Given the description of an element on the screen output the (x, y) to click on. 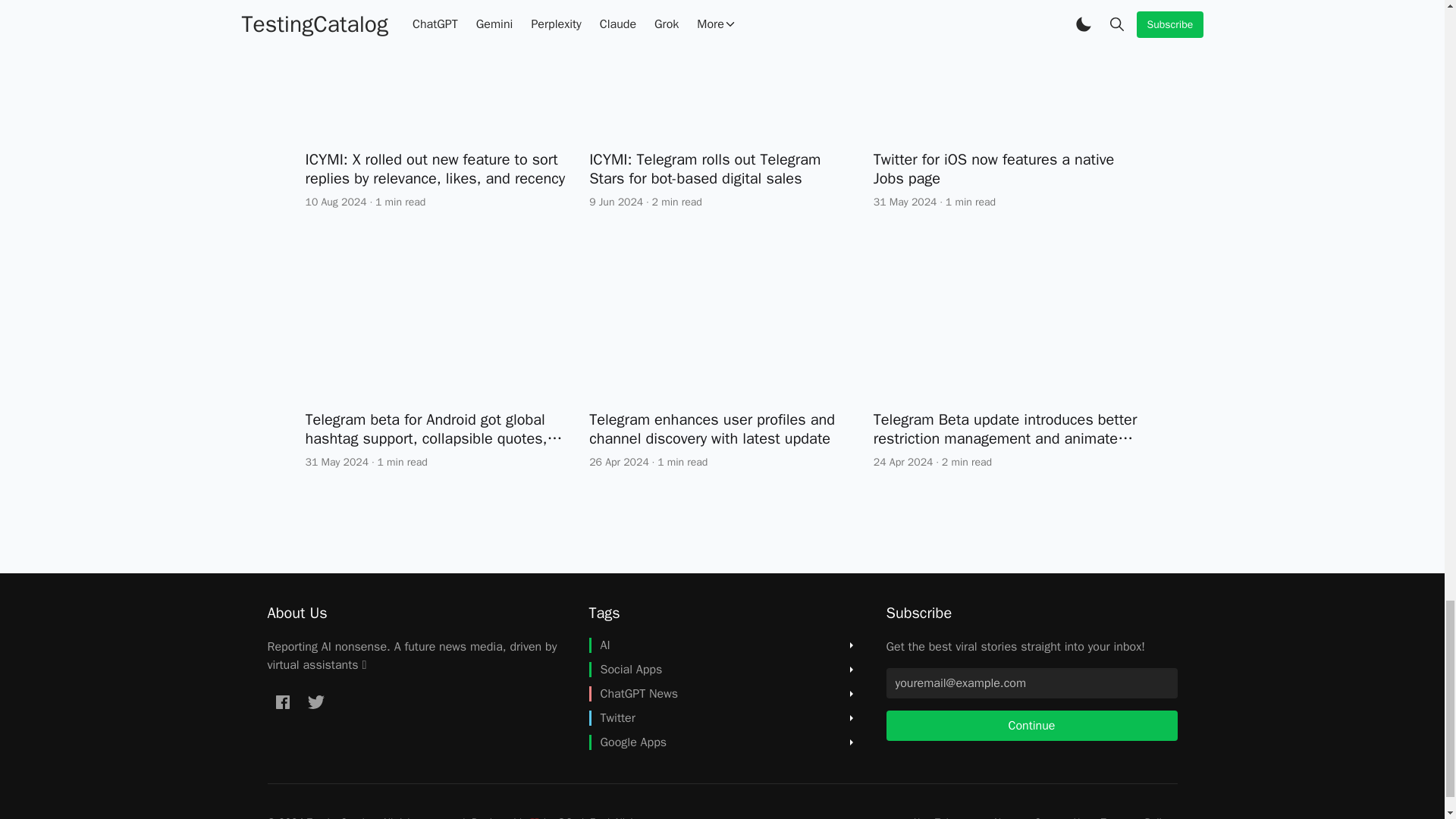
Updated 9 Jun 2024 (616, 201)
Updated 10 Aug 2024 (335, 201)
1 min read (400, 201)
